Given the description of an element on the screen output the (x, y) to click on. 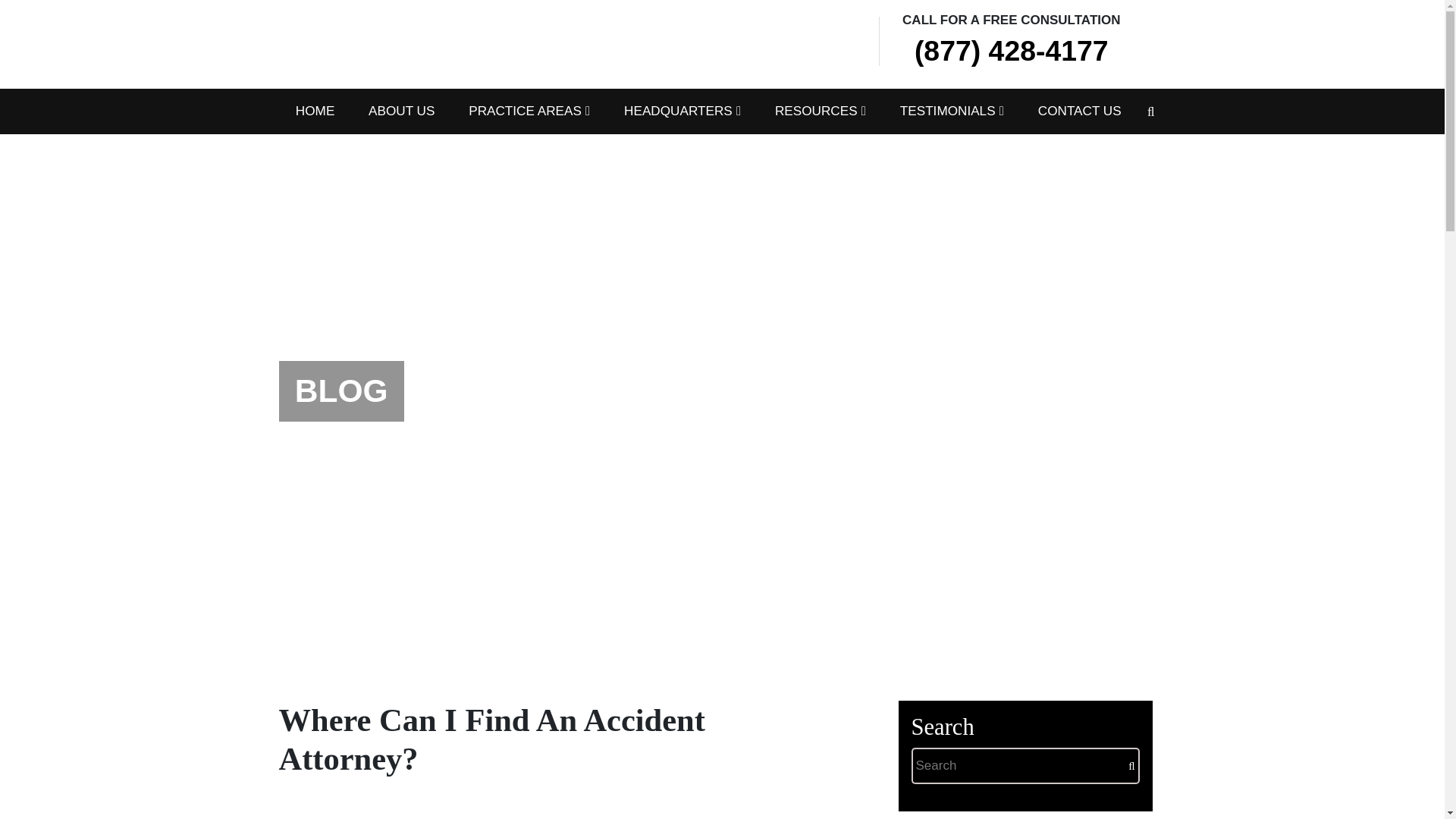
HOME (315, 111)
ABOUT US (401, 111)
PRACTICE AREAS (529, 111)
HEADQUARTERS (682, 111)
